Given the description of an element on the screen output the (x, y) to click on. 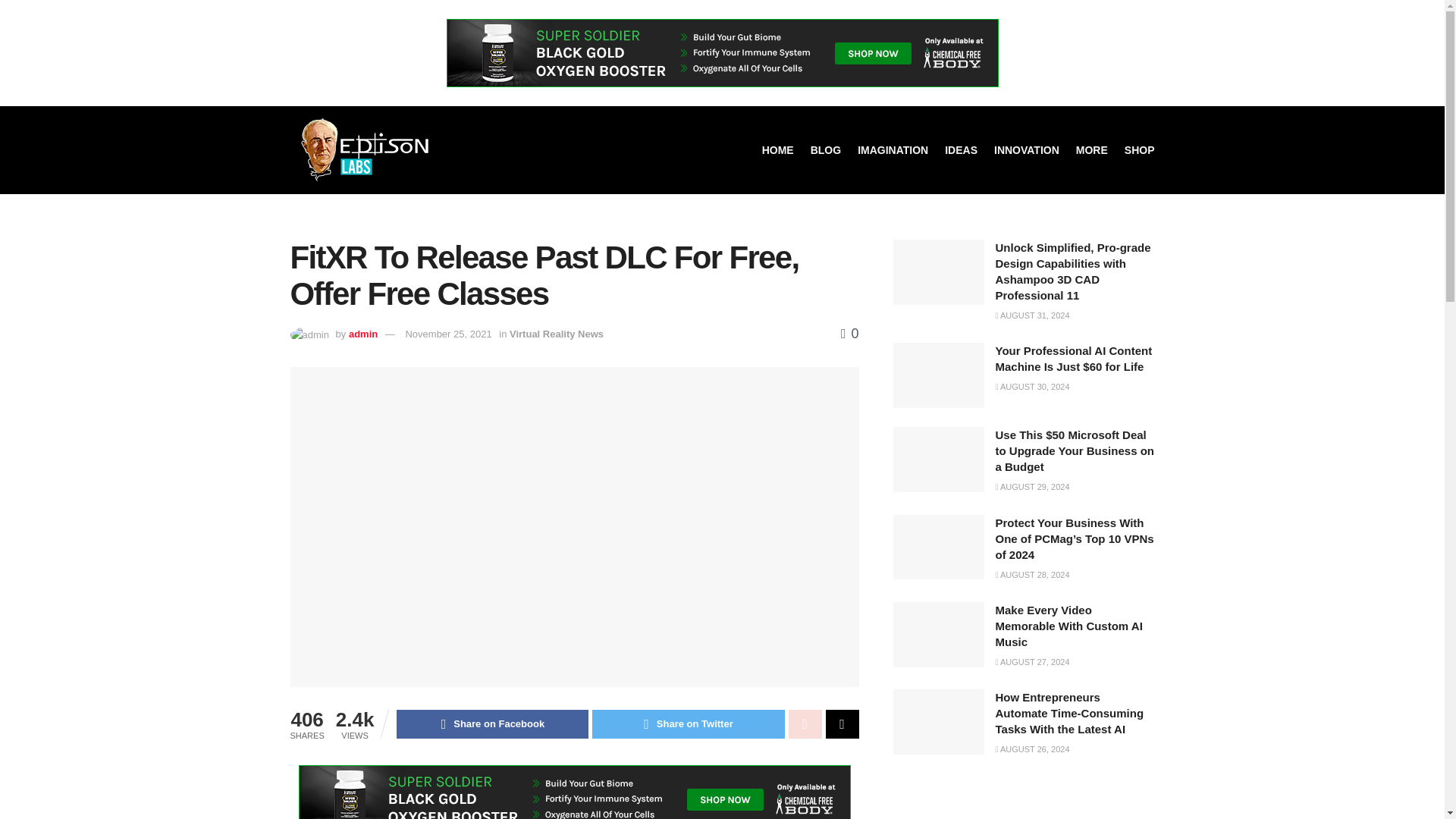
Share on Facebook (492, 724)
Virtual Reality News (556, 333)
Share on Twitter (688, 724)
0 (850, 333)
November 25, 2021 (448, 333)
admin (363, 333)
